Given the description of an element on the screen output the (x, y) to click on. 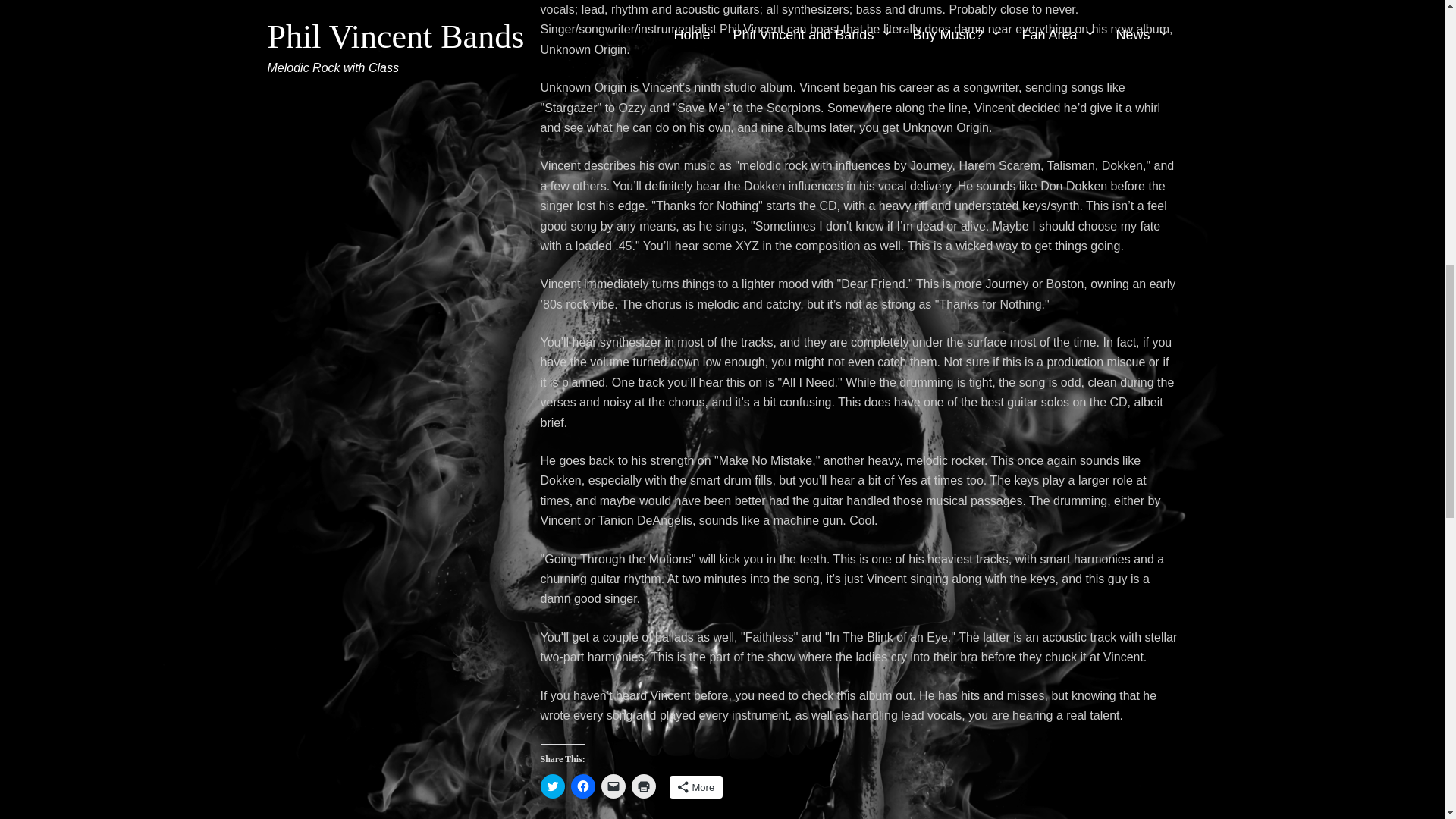
Click to share on Twitter (552, 785)
Click to share on Facebook (582, 785)
Click to email a link to a friend (611, 785)
Click to print (642, 785)
More (695, 786)
